Given the description of an element on the screen output the (x, y) to click on. 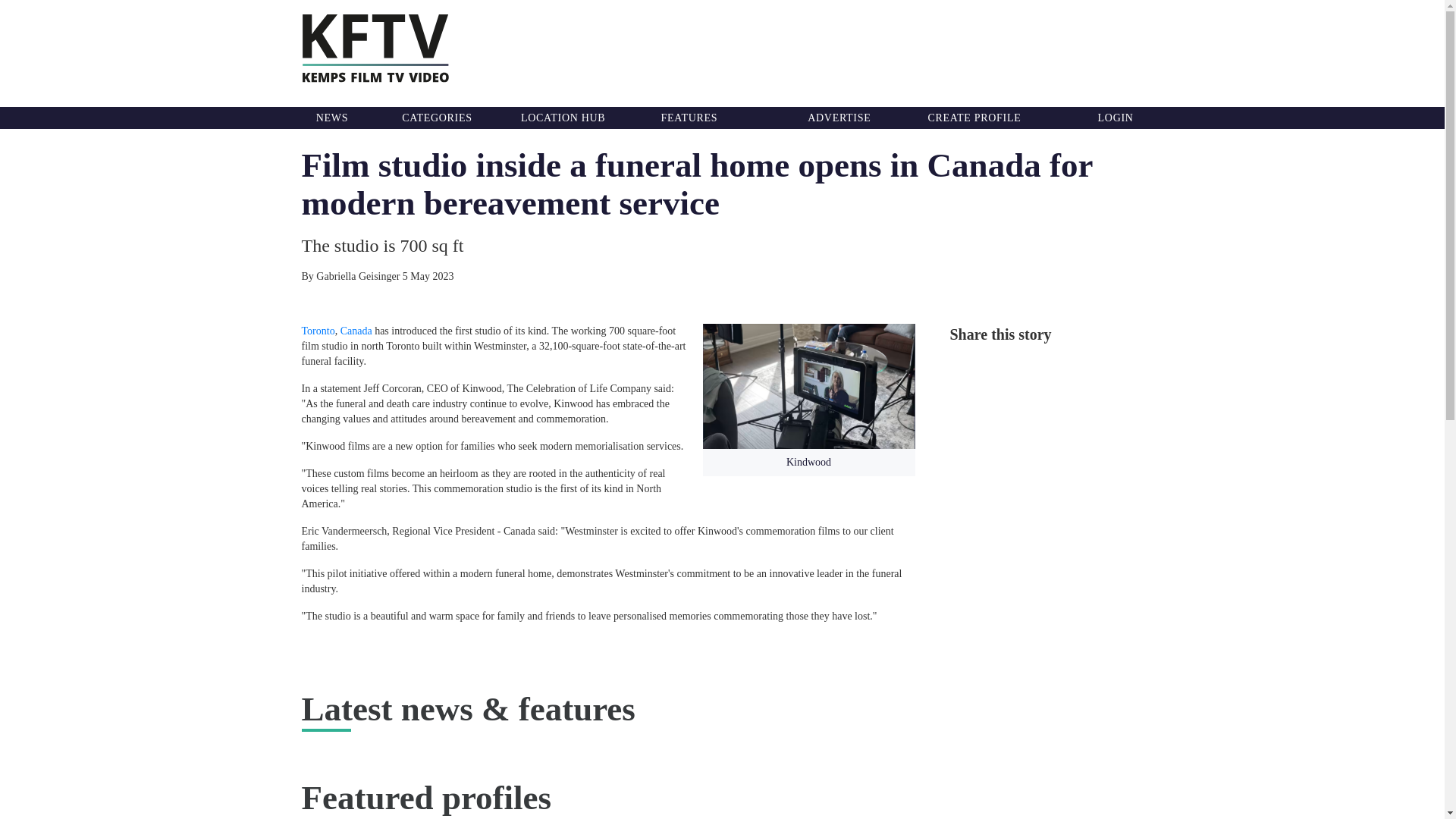
CREATE PROFILE (973, 117)
ADVERTISE (839, 117)
Toronto (317, 330)
LOCATION HUB (563, 117)
FEATURES (689, 117)
Canada (356, 330)
LOGIN (1115, 117)
CATEGORIES (436, 117)
NEWS (331, 117)
